Given the description of an element on the screen output the (x, y) to click on. 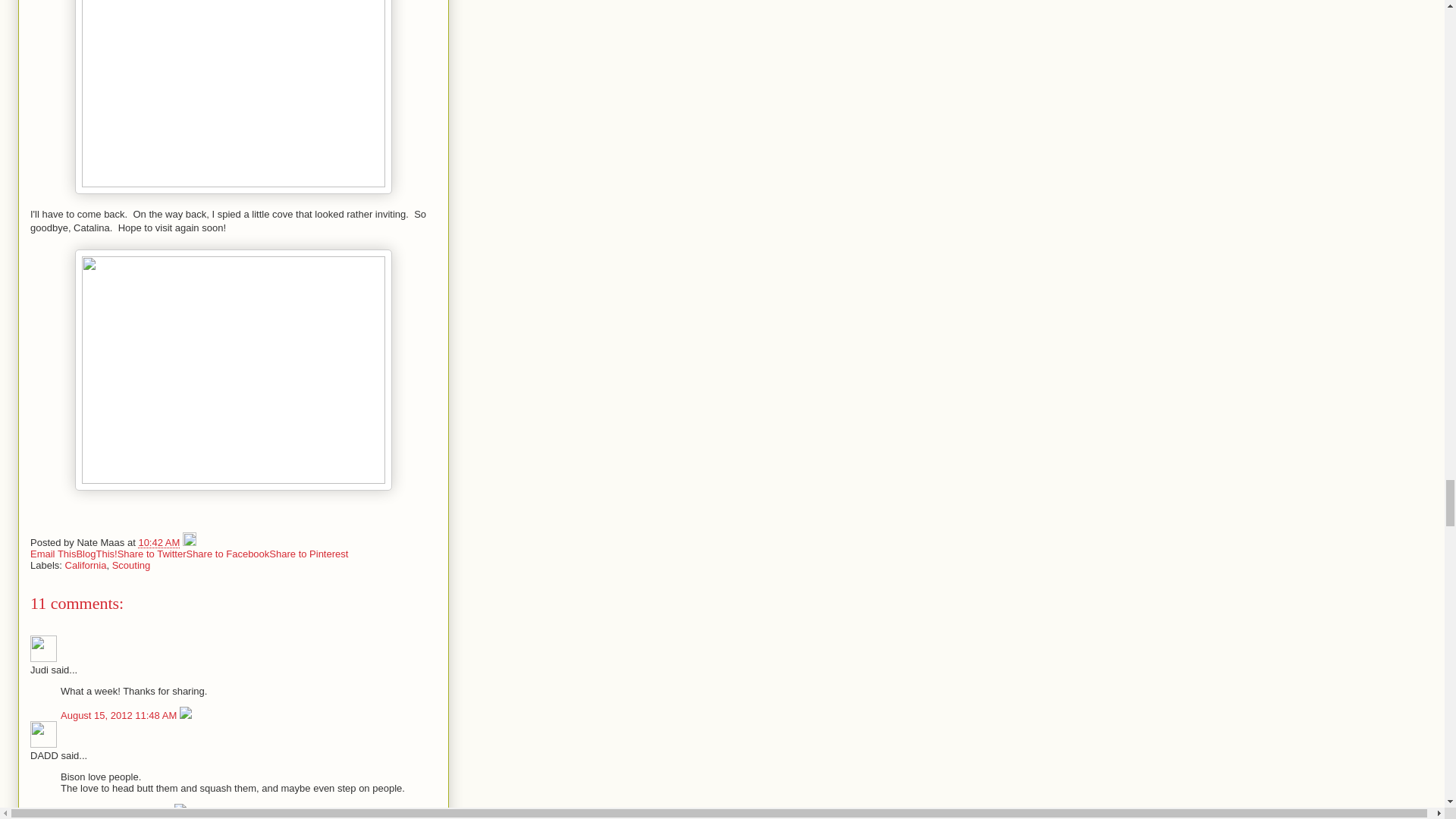
Share to Twitter (151, 553)
Delete Comment (180, 812)
comment permalink (120, 715)
BlogThis! (95, 553)
Share to Pinterest (308, 553)
Email This (52, 553)
10:42 AM (158, 542)
Share to Twitter (151, 553)
Scouting (131, 564)
Judi (43, 648)
Edit Post (189, 542)
comment permalink (117, 812)
DADD (43, 734)
Share to Facebook (227, 553)
California (85, 564)
